Given the description of an element on the screen output the (x, y) to click on. 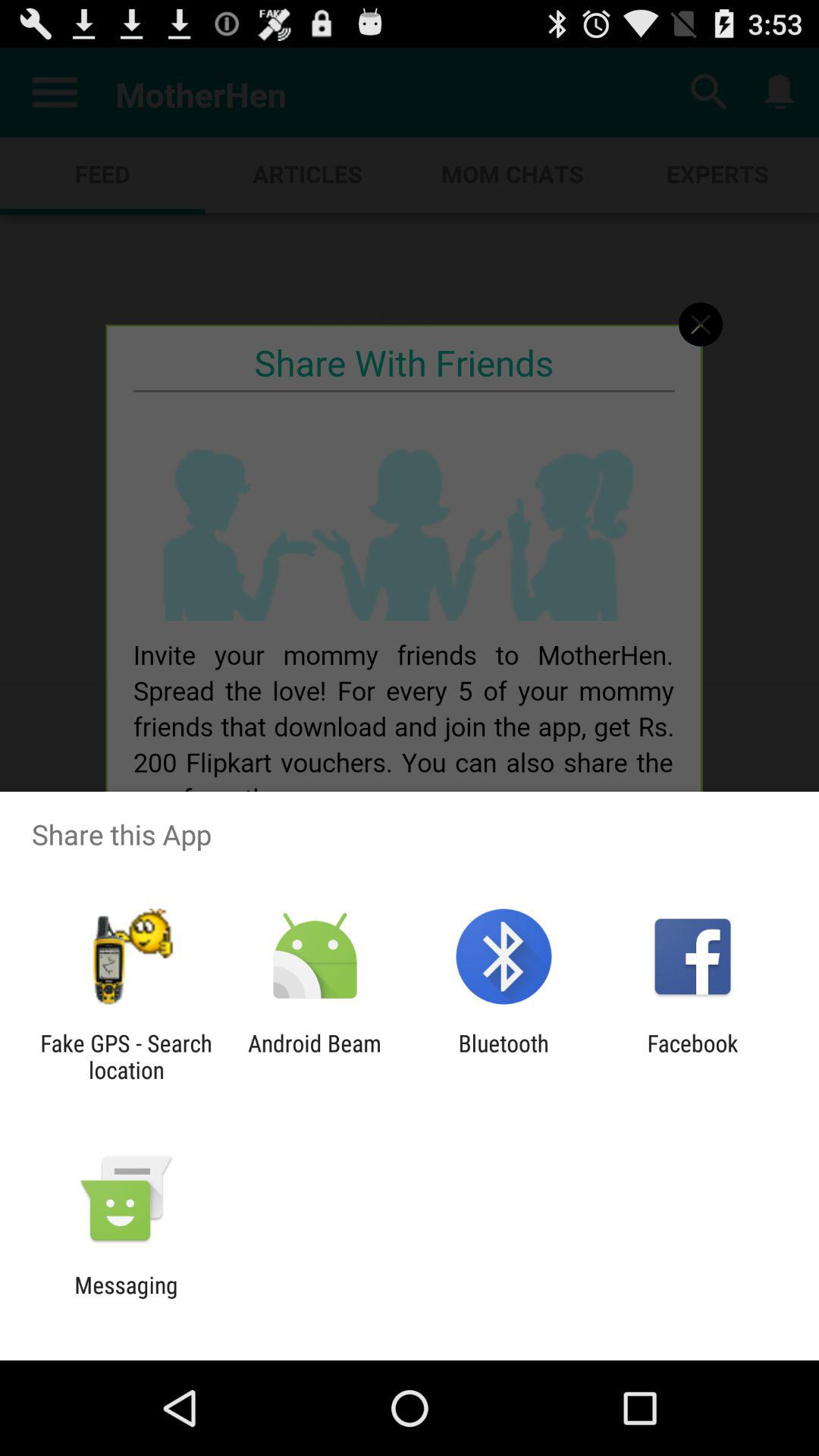
select icon next to the android beam item (503, 1056)
